Given the description of an element on the screen output the (x, y) to click on. 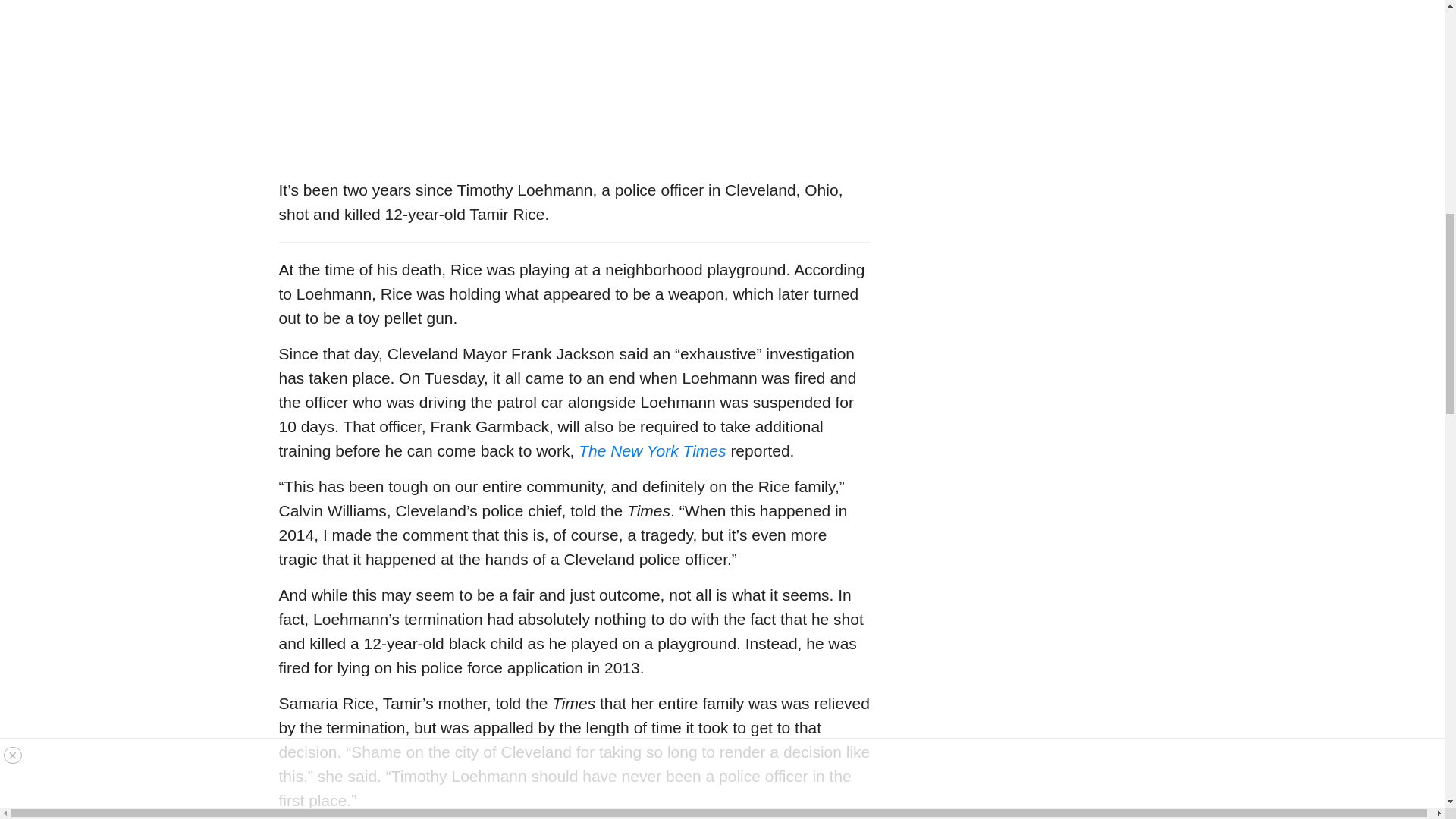
The New York Times (651, 450)
